Given the description of an element on the screen output the (x, y) to click on. 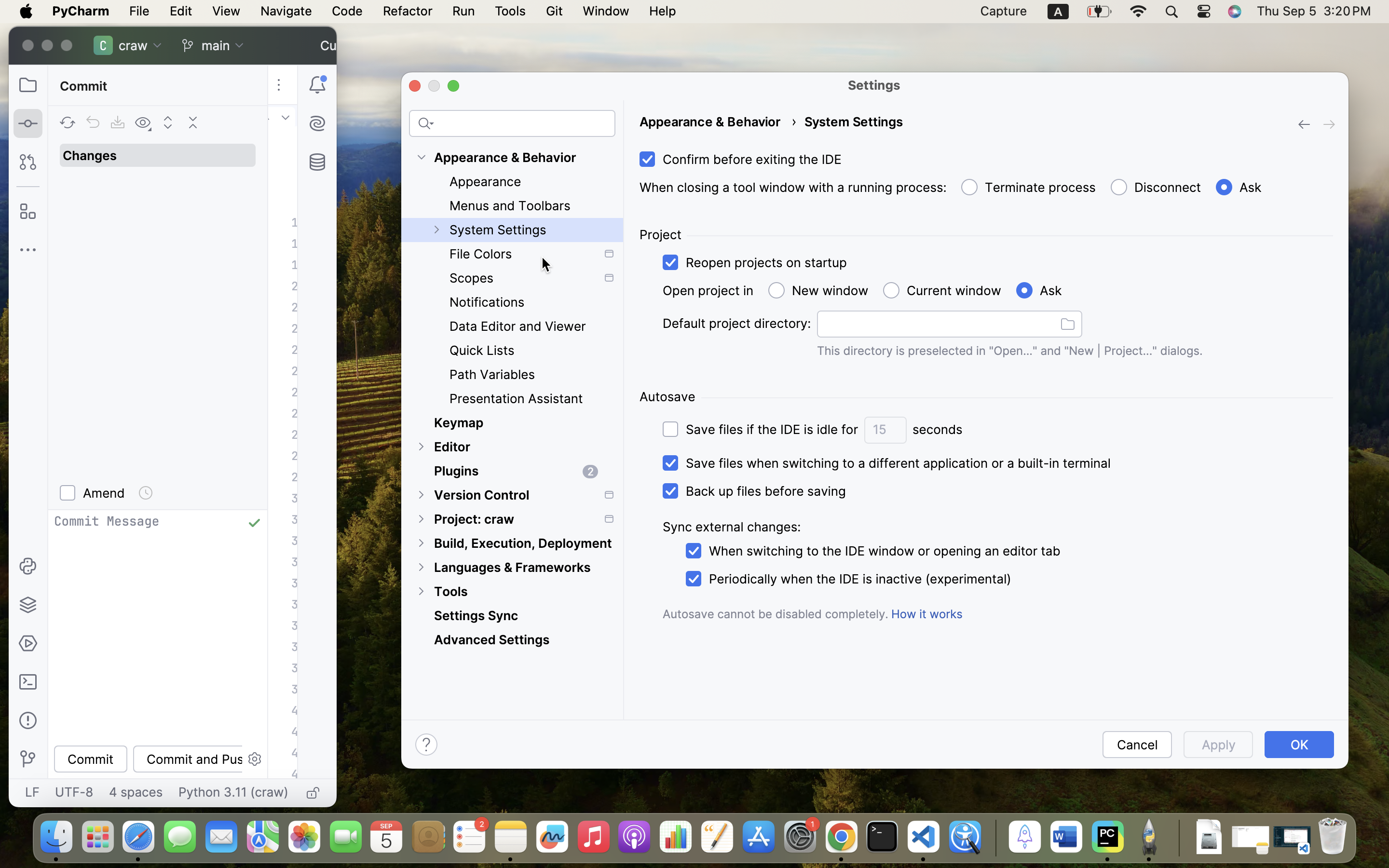
When closing a tool window with a running process: Element type: AXStaticText (792, 187)
Default project directory: Element type: AXStaticText (736, 323)
Autosave Element type: AXStaticText (667, 396)
0 Element type: AXOutline (512, 432)
0 Element type: AXRadioButton (1026, 187)
